Given the description of an element on the screen output the (x, y) to click on. 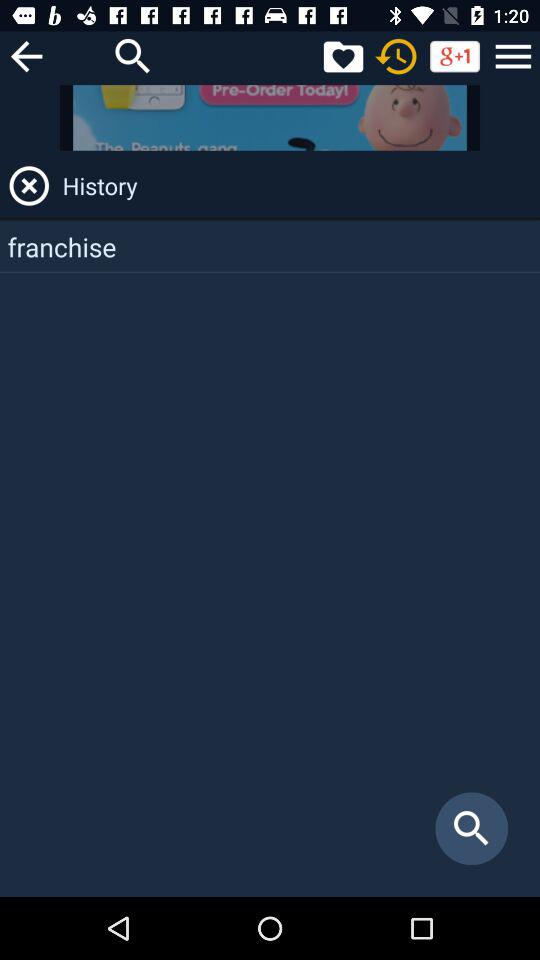
see my favorite (343, 56)
